Given the description of an element on the screen output the (x, y) to click on. 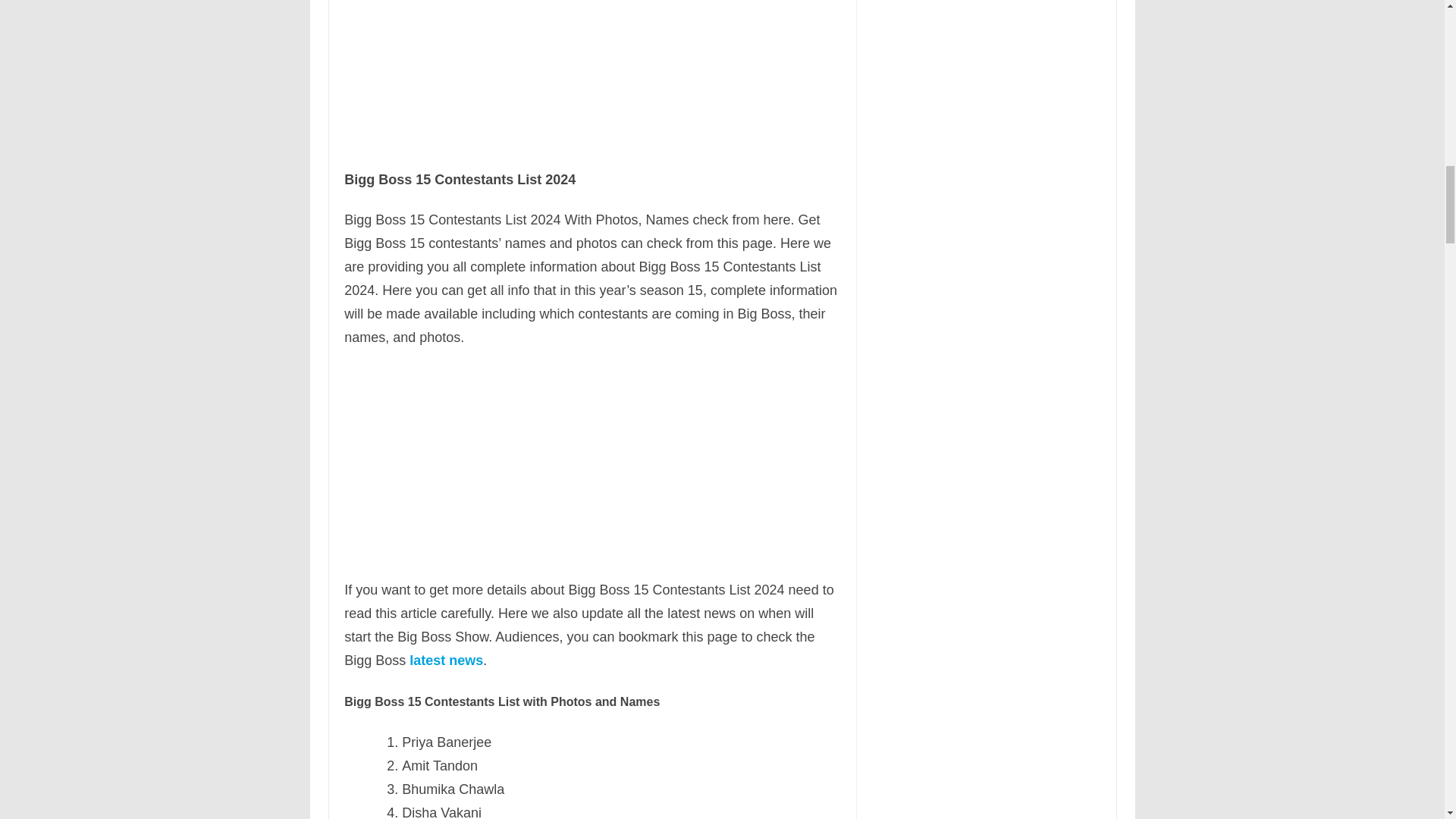
latest news (446, 660)
Advertisement (591, 466)
